Given the description of an element on the screen output the (x, y) to click on. 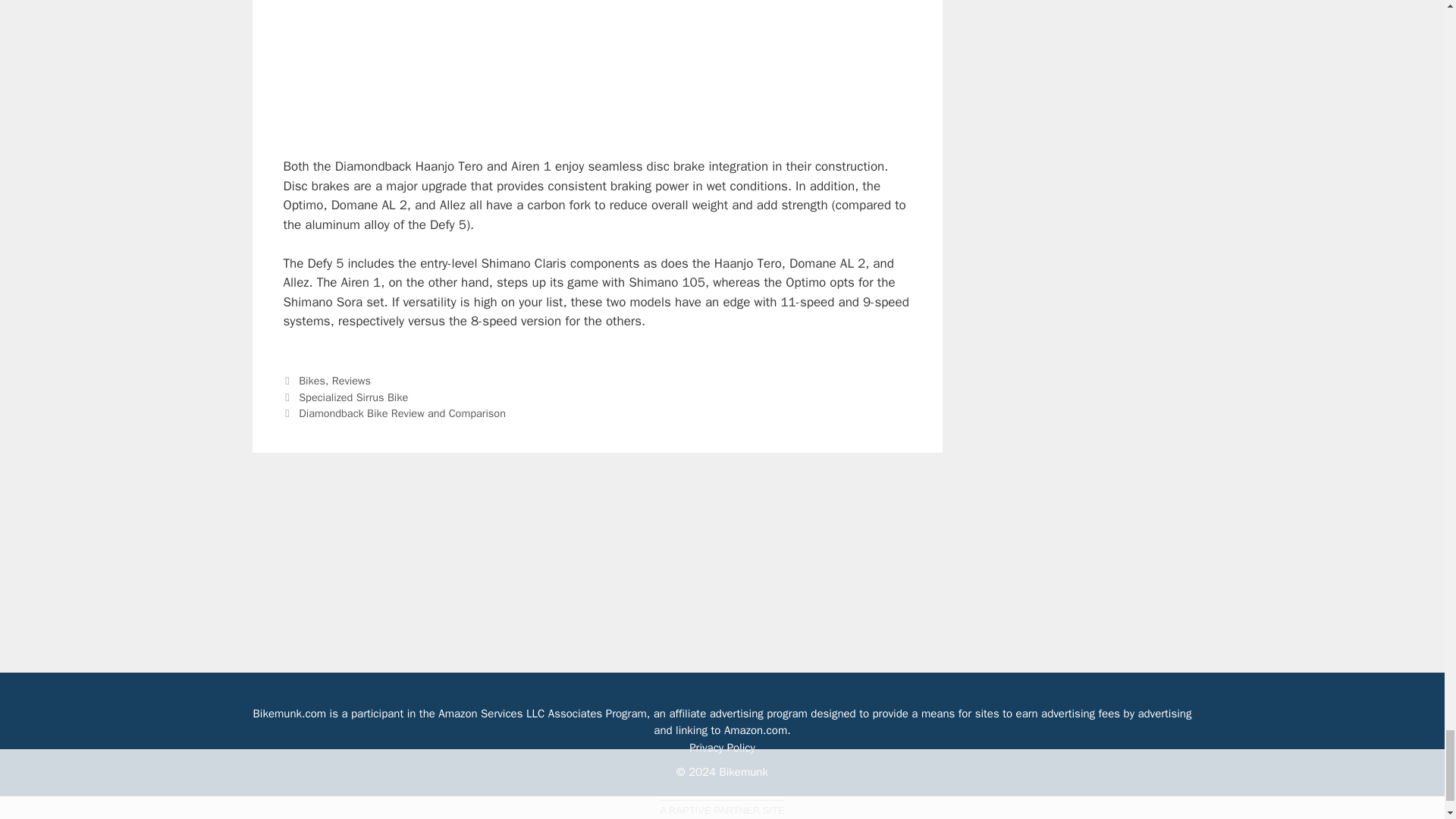
Diamondback Bike Review and Comparison (401, 413)
Reviews (351, 380)
Bikes (311, 380)
Specialized Sirrus Bike (352, 397)
Privacy Policy (721, 747)
